Given the description of an element on the screen output the (x, y) to click on. 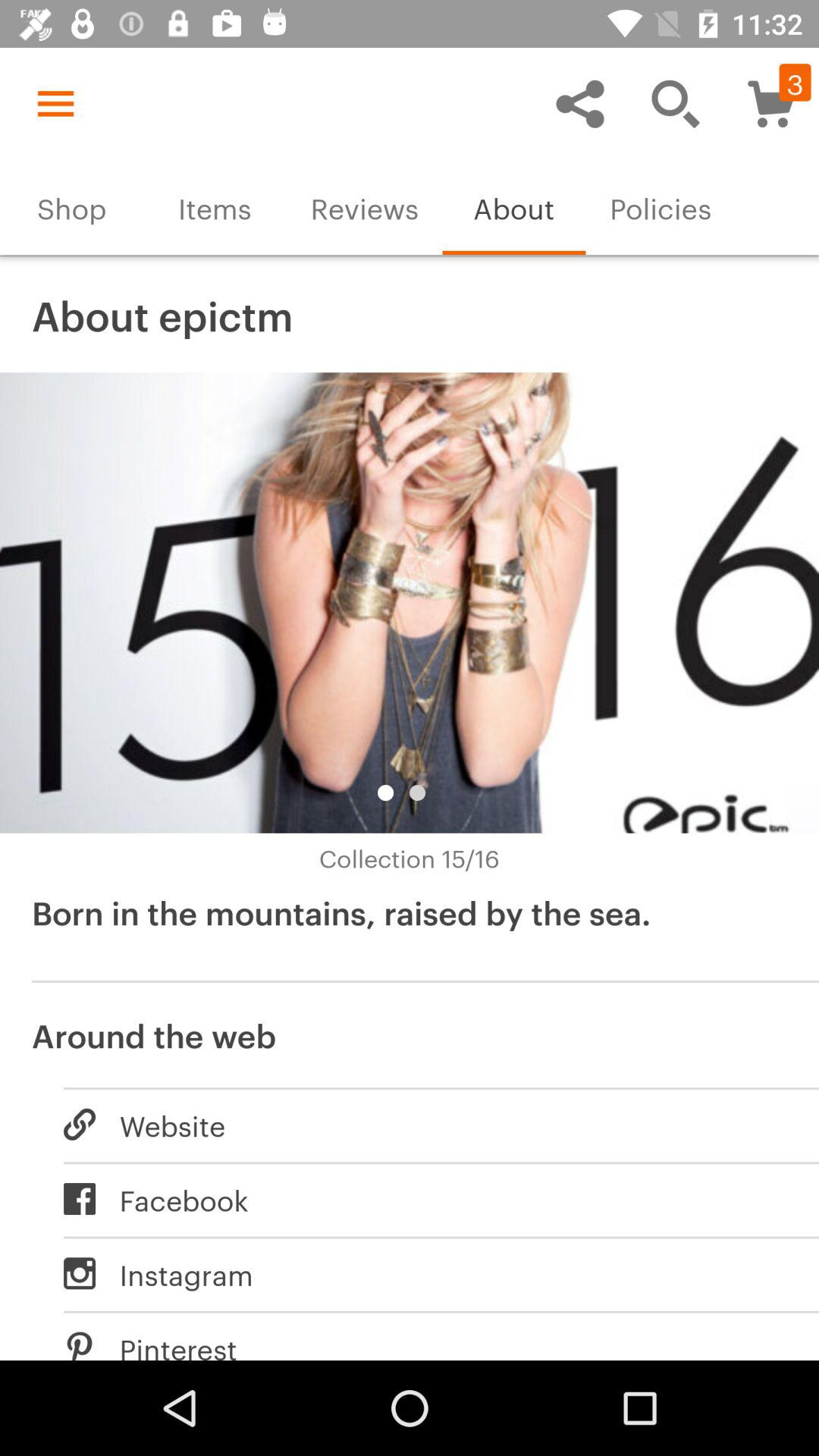
flip to the born in the item (409, 930)
